Given the description of an element on the screen output the (x, y) to click on. 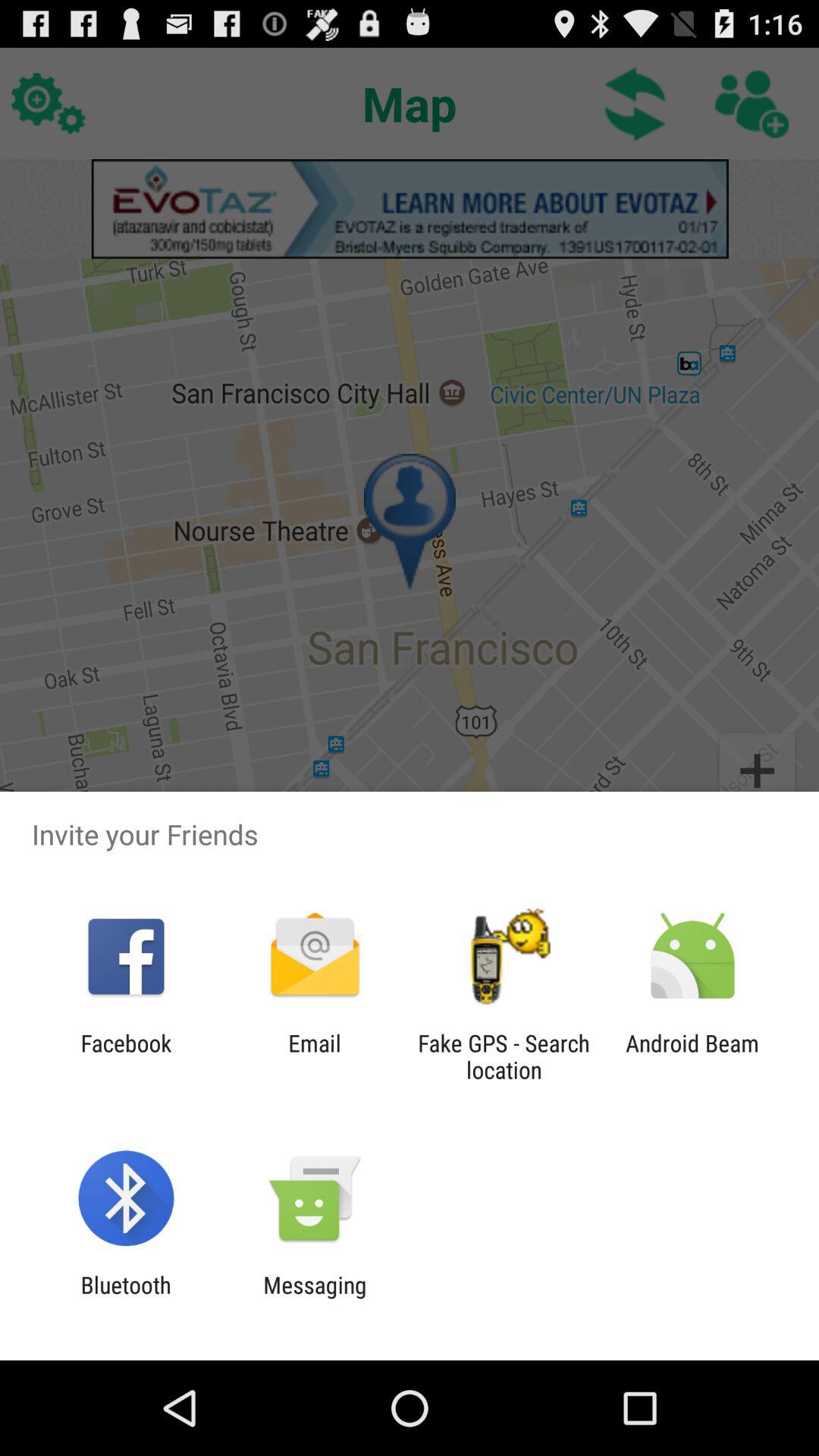
flip to email item (314, 1056)
